Given the description of an element on the screen output the (x, y) to click on. 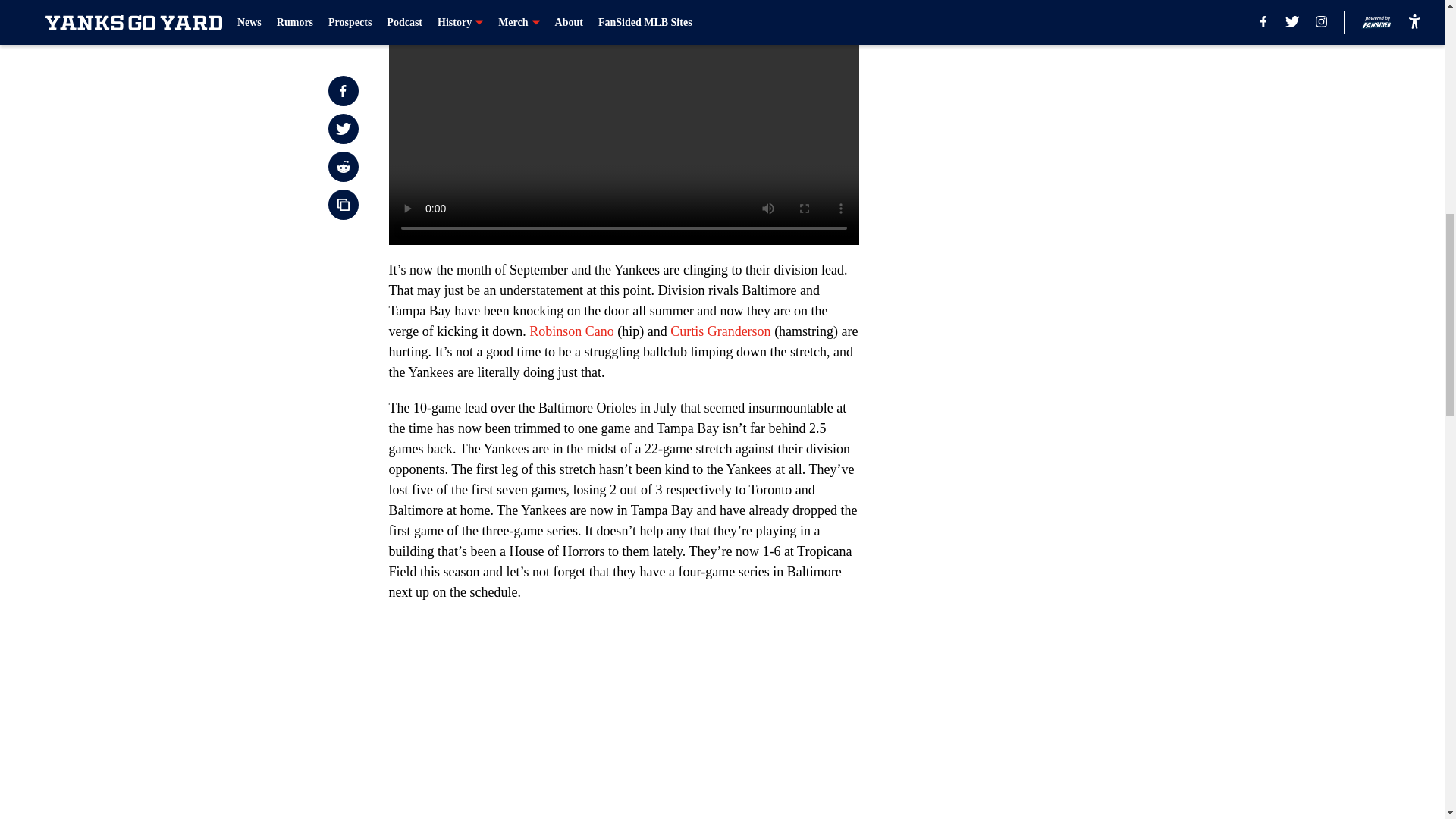
3rd party ad content (1047, 294)
Curtis Granderson (719, 331)
Robinson Cano (571, 331)
3rd party ad content (1047, 84)
